Given the description of an element on the screen output the (x, y) to click on. 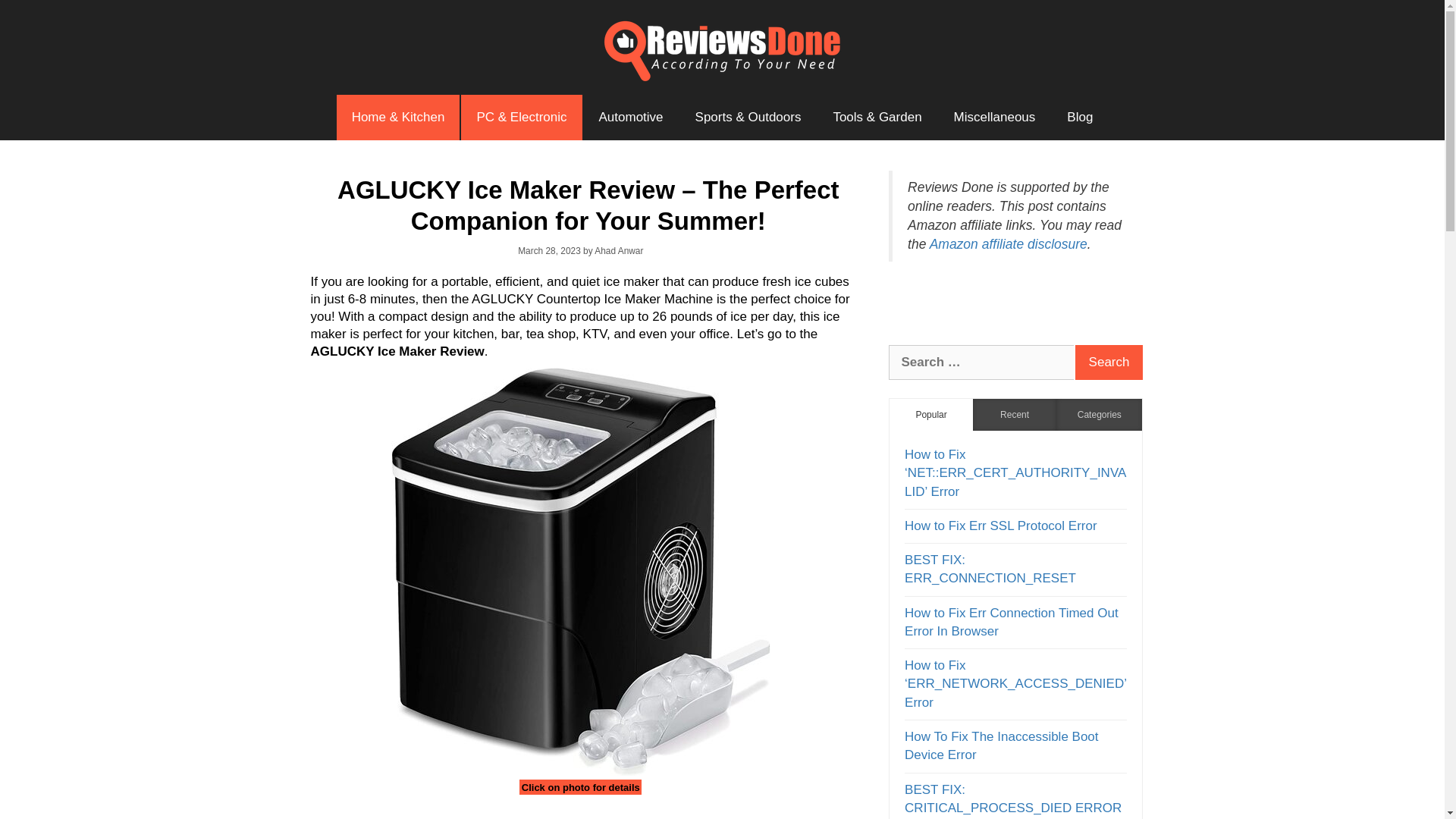
Tab 3 (1099, 414)
How to Fix Err SSL Protocol Error (1000, 525)
Ahad Anwar (618, 250)
Categories (1099, 414)
Automotive (630, 117)
How to Fix Err SSL Protocol Error (1000, 525)
How To Fix The Inaccessible Boot Device Error (1000, 745)
Search for: (981, 362)
How to Fix Err Connection Timed Out Error In Browser (1011, 622)
Search (1108, 362)
Search (1108, 362)
Tab 1 (930, 414)
Amazon affiliate disclosure (1008, 243)
Blog (1079, 117)
Recent (1014, 414)
